Given the description of an element on the screen output the (x, y) to click on. 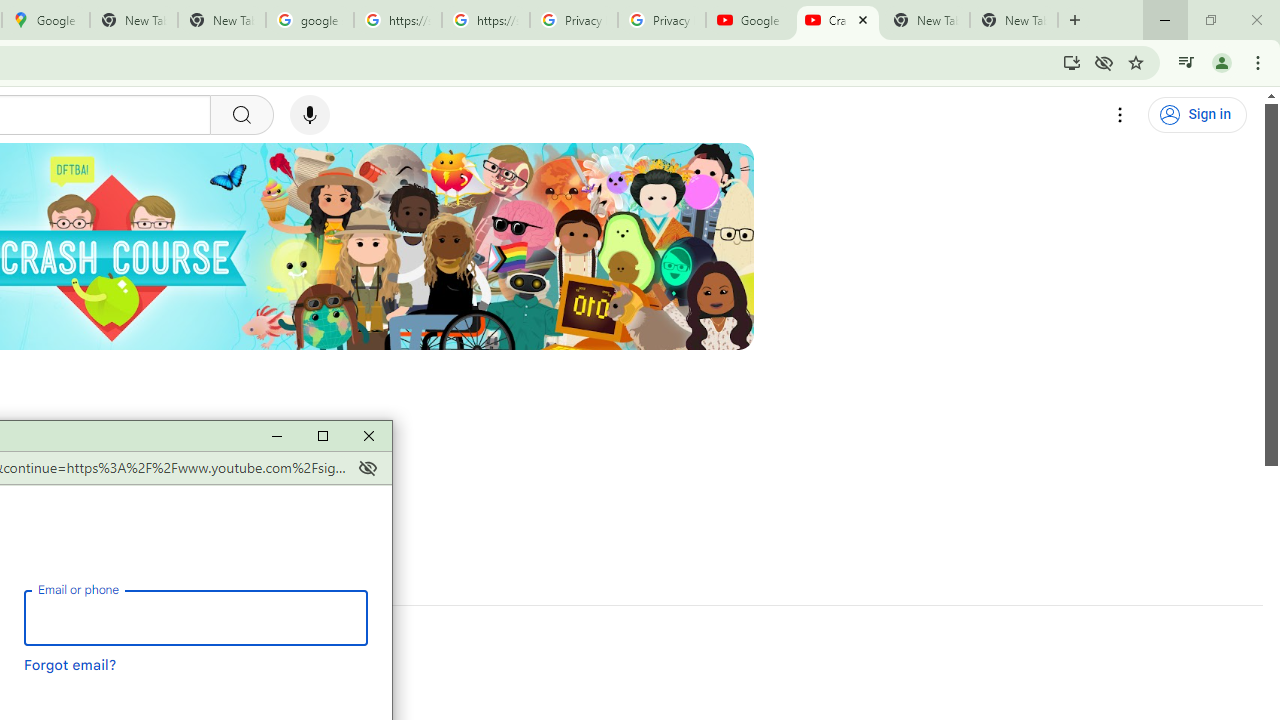
Maximize (322, 436)
Install YouTube (1071, 62)
Forgot email? (70, 664)
Email or phone (195, 617)
Search with your voice (309, 115)
